Given the description of an element on the screen output the (x, y) to click on. 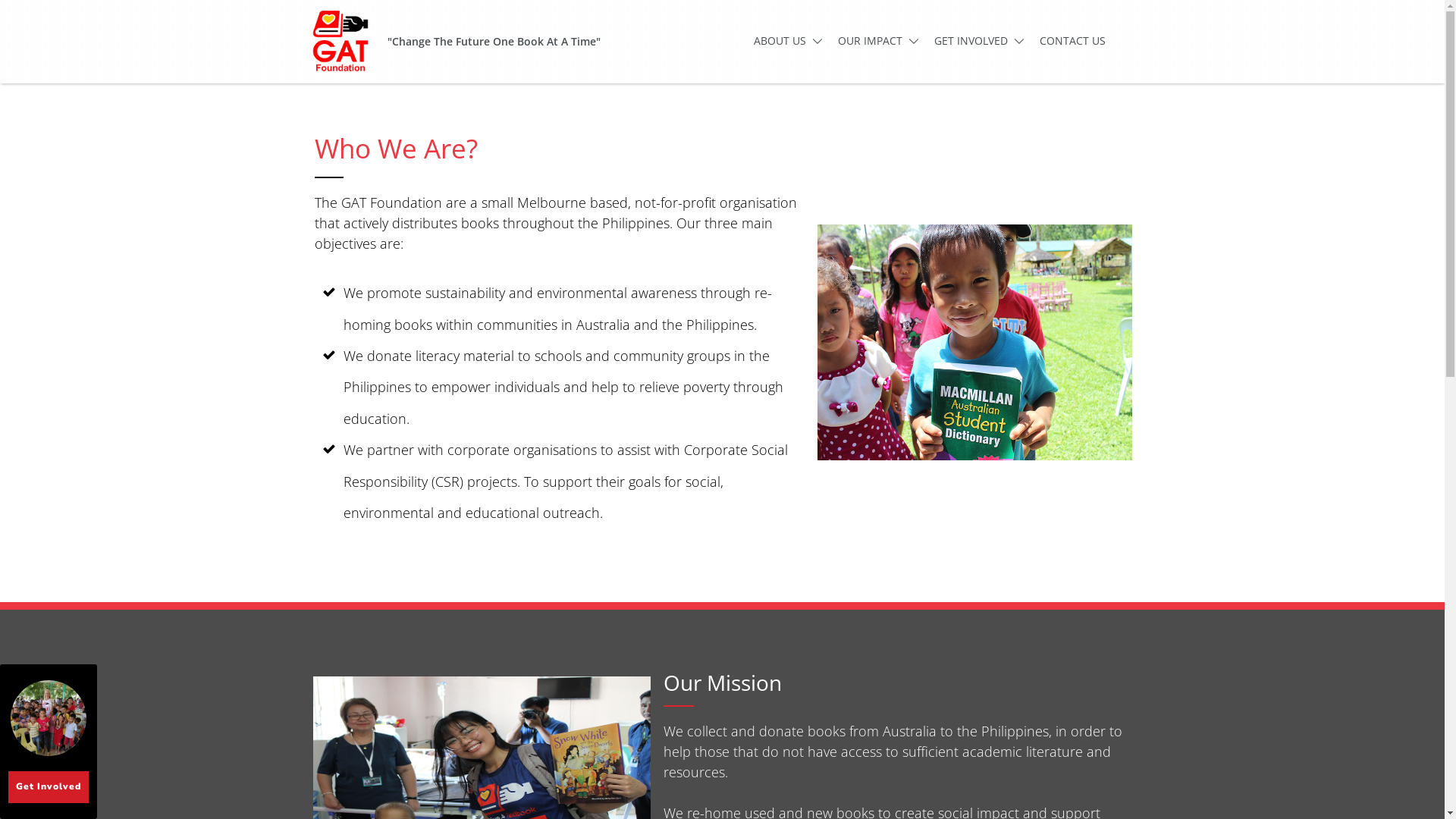
CONTACT US Element type: text (1072, 40)
GAT LOGO2 Element type: hover (339, 40)
Get Involved Element type: text (48, 787)
ABOUT US Element type: text (787, 40)
OUR IMPACT Element type: text (878, 40)
GET INVOLVED Element type: text (979, 40)
kid-smiling-with-book Element type: hover (974, 342)
